Given the description of an element on the screen output the (x, y) to click on. 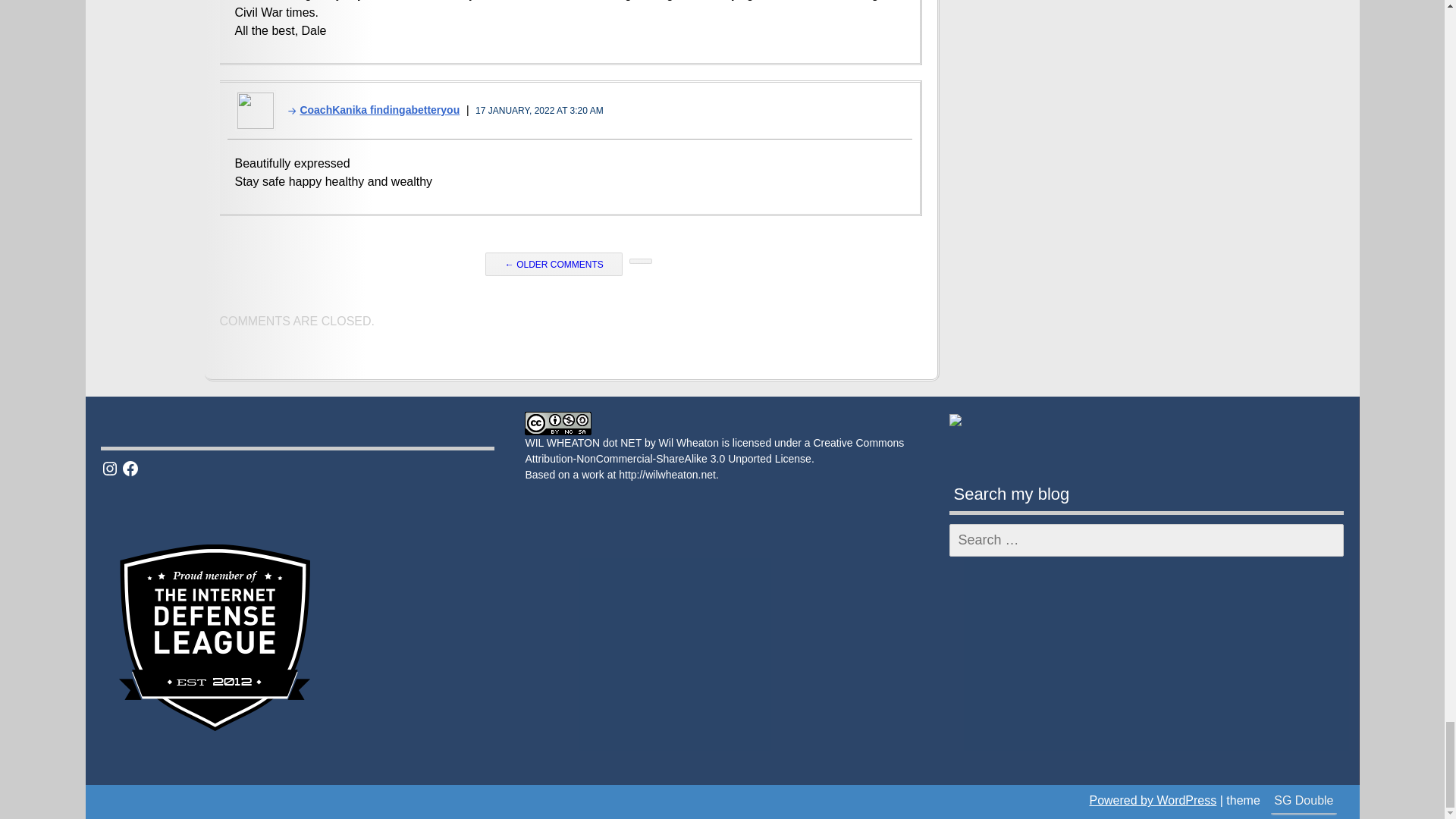
Wil Wheaton (689, 442)
Facebook (129, 468)
CoachKanika findingabetteryou (369, 110)
17 JANUARY, 2022 AT 3:20 AM (540, 110)
Instagram (108, 468)
